Given the description of an element on the screen output the (x, y) to click on. 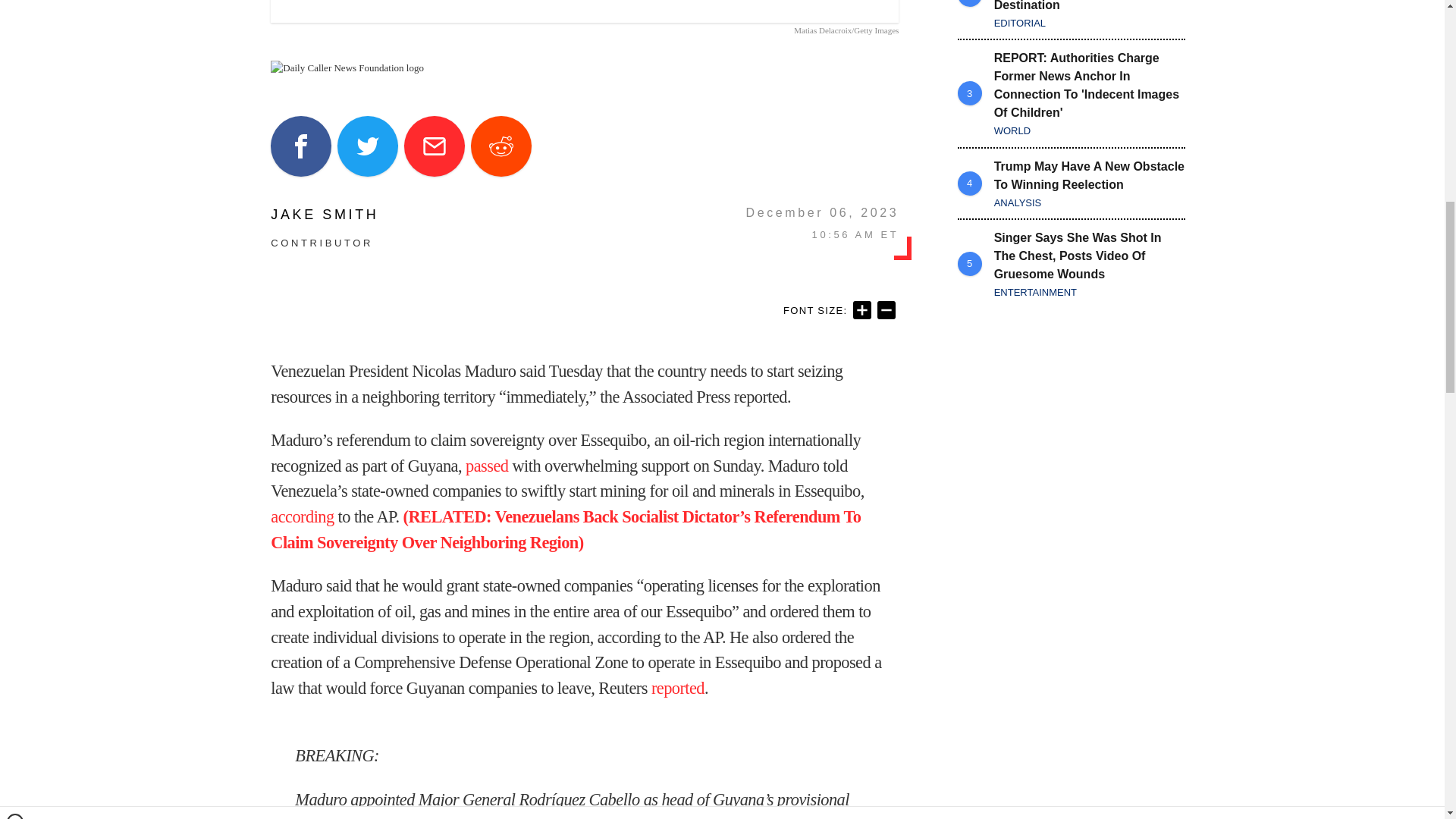
JAKE SMITH (324, 214)
Close window (14, 6)
View More Articles By Jake Smith (324, 214)
passed (486, 465)
according (301, 516)
